Given the description of an element on the screen output the (x, y) to click on. 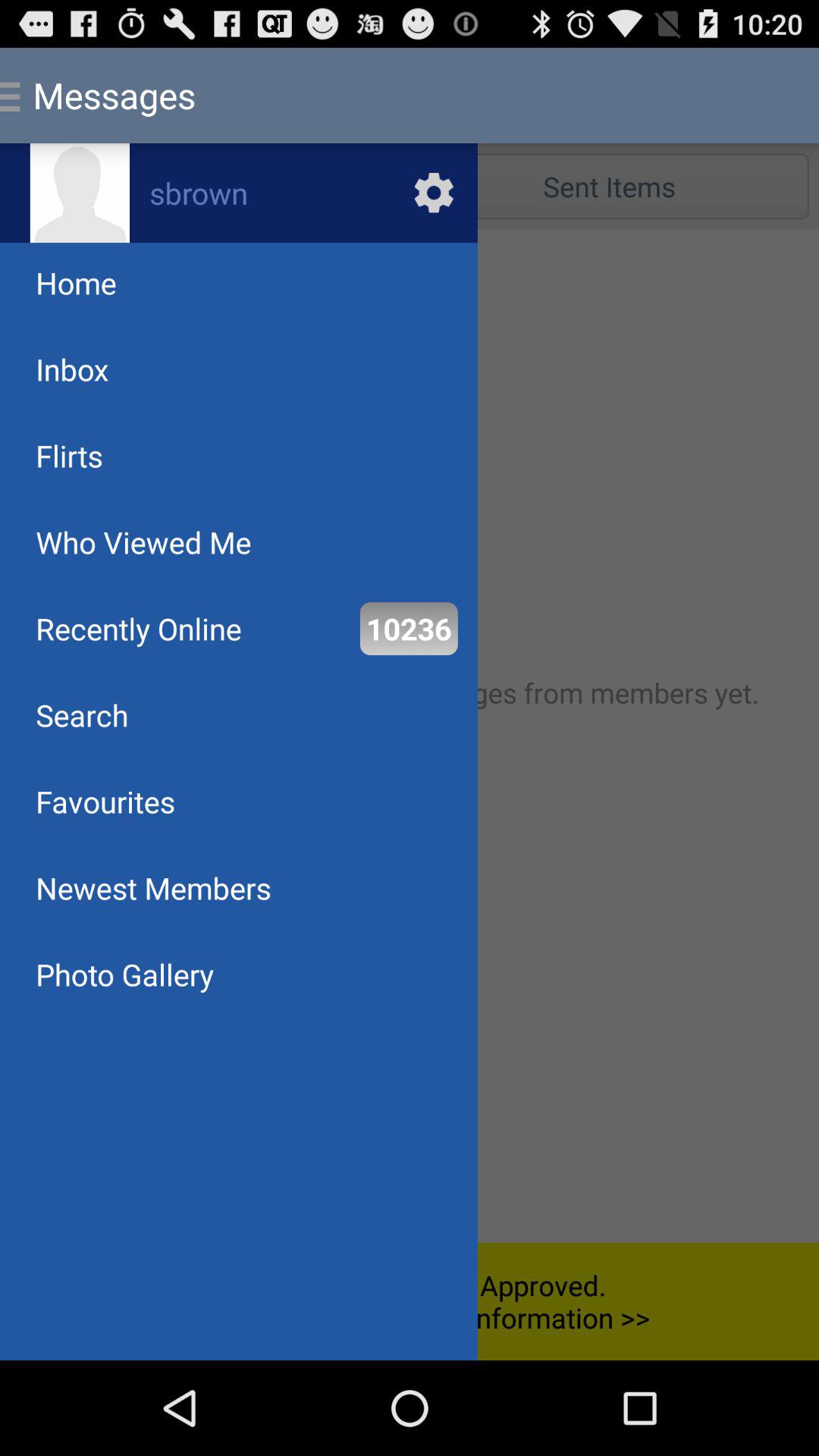
menu bar (409, 735)
